Given the description of an element on the screen output the (x, y) to click on. 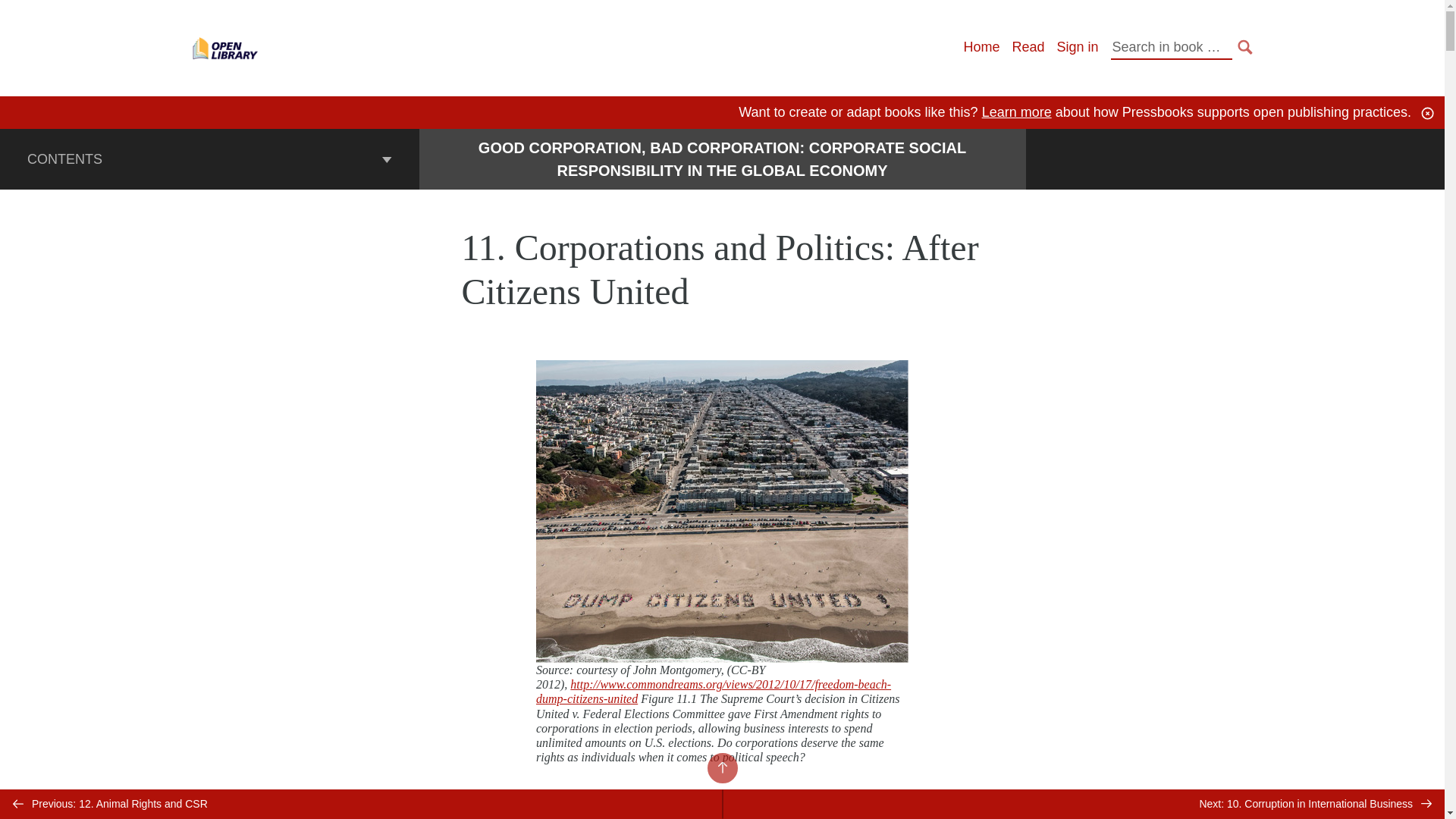
Learn more (1016, 111)
CONTENTS (209, 158)
Previous: 12. Animal Rights and CSR (361, 804)
Sign in (1077, 46)
Read (1027, 46)
BACK TO TOP (721, 767)
Previous: 12. Animal Rights and CSR (361, 804)
Home (980, 46)
